Given the description of an element on the screen output the (x, y) to click on. 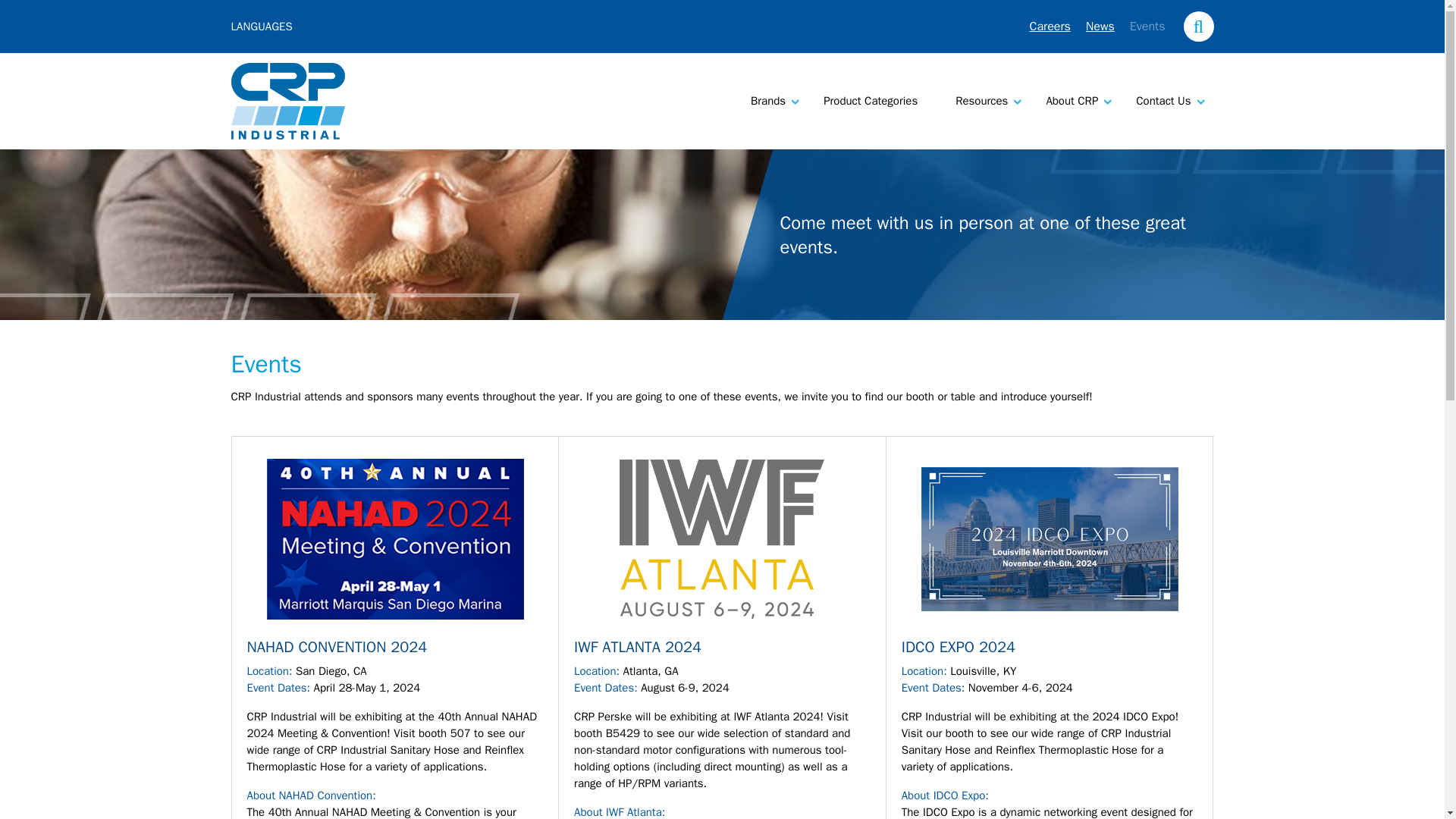
Product Categories (870, 101)
Events (1147, 26)
Careers (1049, 26)
News (1100, 26)
Brands (767, 101)
